Given the description of an element on the screen output the (x, y) to click on. 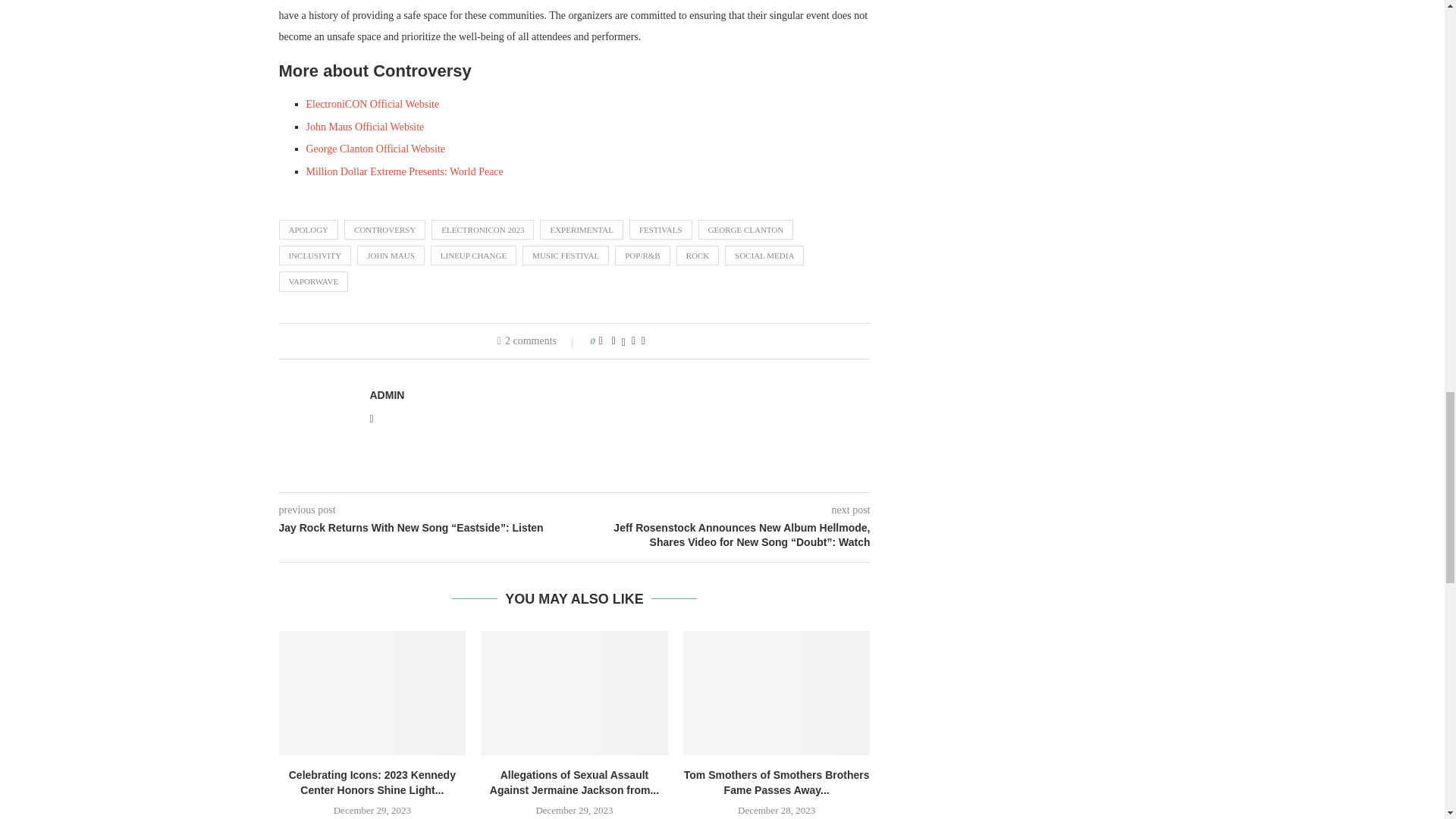
ELECTRONICON 2023 (482, 229)
CONTROVERSY (384, 229)
JOHN MAUS (390, 255)
EXPERIMENTAL (581, 229)
INCLUSIVITY (315, 255)
FESTIVALS (660, 229)
George Clanton Official Website (375, 148)
Million Dollar Extreme Presents: World Peace (404, 171)
APOLOGY (309, 229)
Tom Smothers of Smothers Brothers Fame Passes Away at 86 (776, 692)
GEORGE CLANTON (745, 229)
Author admin (386, 395)
John Maus Official Website (365, 126)
ElectroniCON Official Website (372, 103)
